Given the description of an element on the screen output the (x, y) to click on. 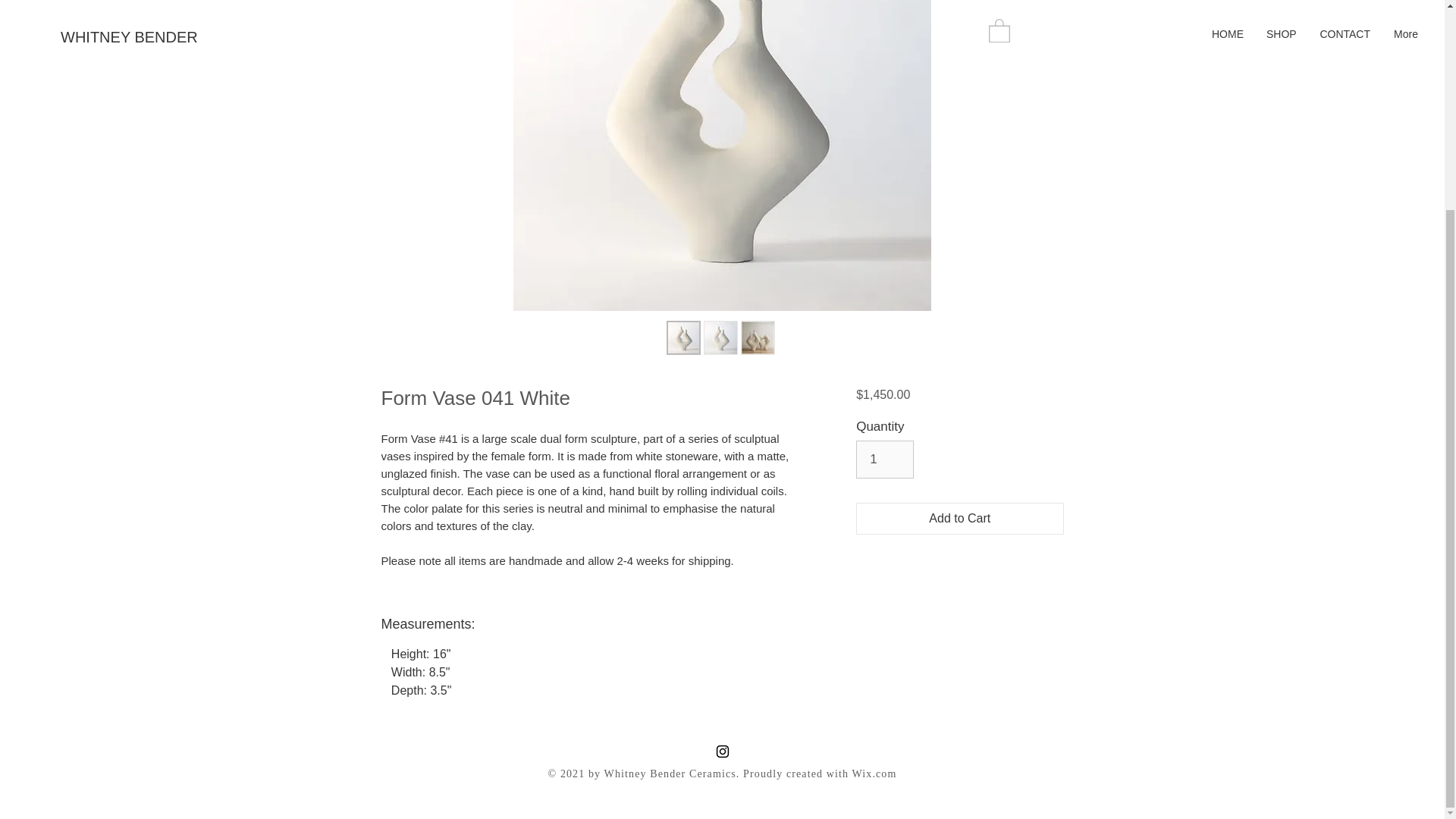
Wix.com (873, 500)
1 (885, 458)
Add to Cart (959, 518)
